Given the description of an element on the screen output the (x, y) to click on. 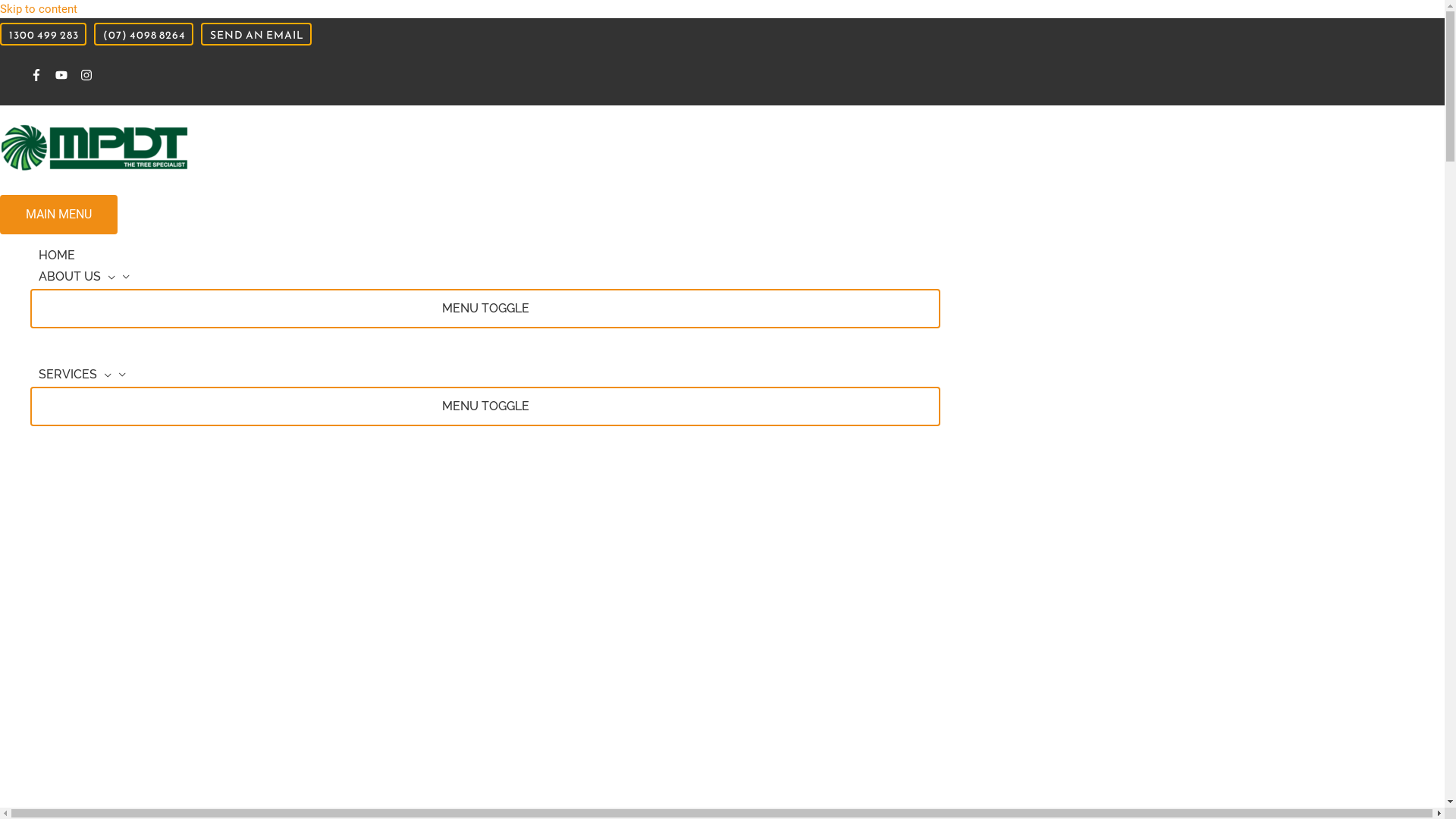
ABOUT US Element type: text (485, 277)
1300 499 283 Element type: text (43, 33)
SEND AN EMAIL Element type: text (255, 33)
Skip to content Element type: text (38, 8)
MAIN MENU Element type: text (58, 214)
(07) 4098 8264 Element type: text (143, 33)
MENU TOGGLE Element type: text (485, 308)
MENU TOGGLE Element type: text (485, 406)
SERVICES Element type: text (485, 375)
HOME Element type: text (485, 256)
